Given the description of an element on the screen output the (x, y) to click on. 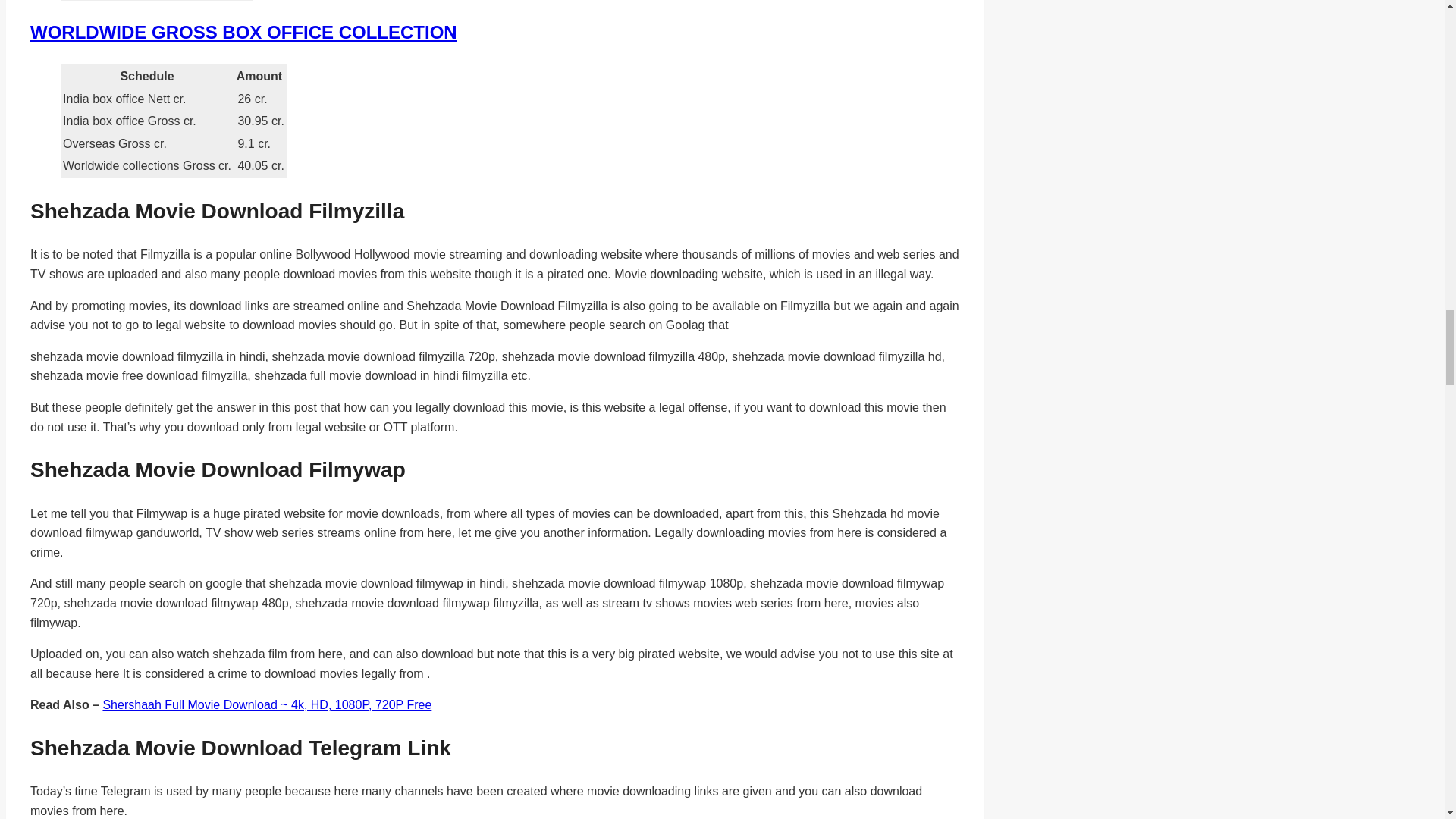
WORLDWIDE GROSS BOX OFFICE COLLECTION (243, 32)
